Given the description of an element on the screen output the (x, y) to click on. 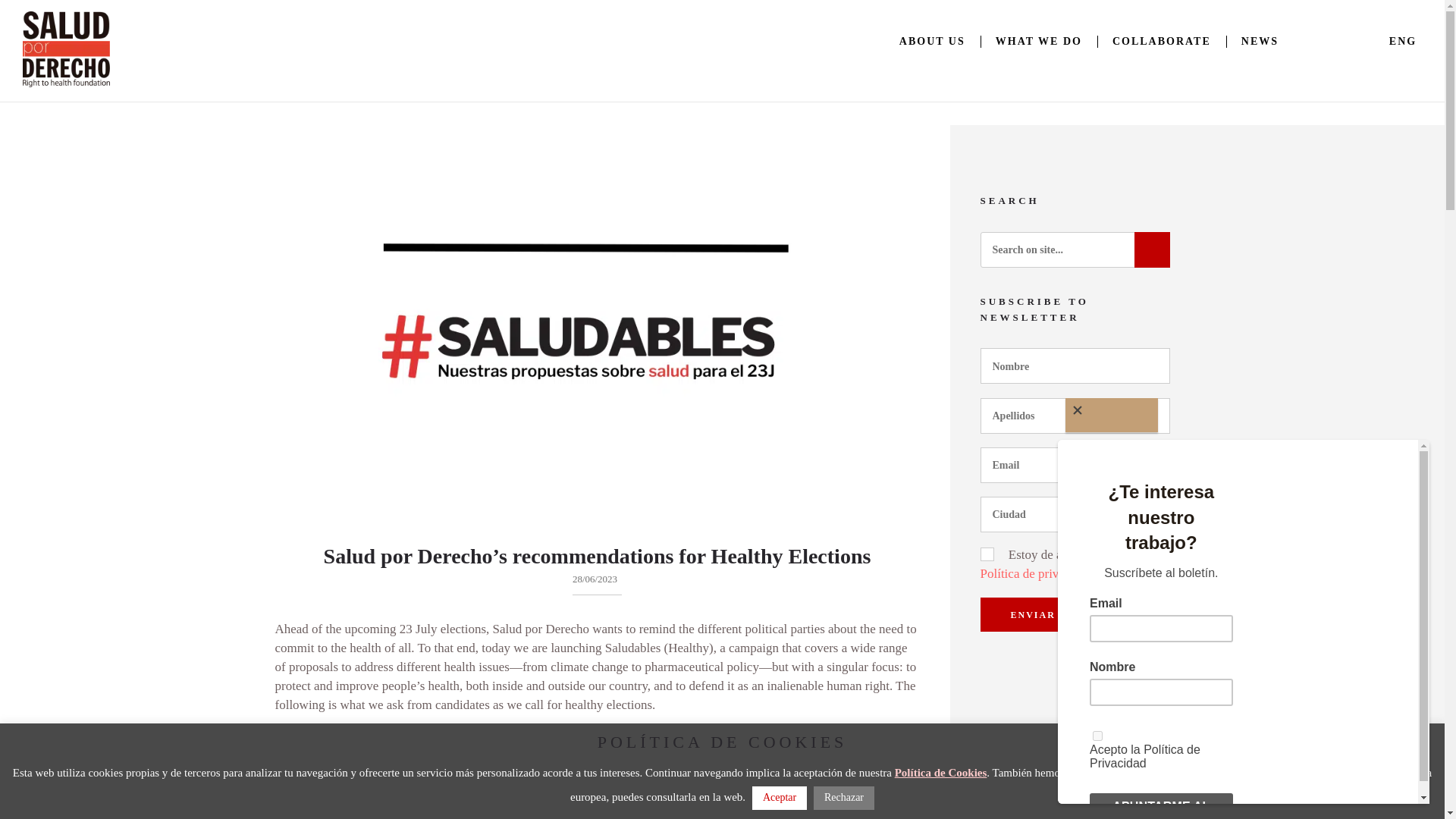
WHAT WE DO (1038, 41)
Search (1152, 249)
Search (1152, 249)
Enviar (1031, 614)
ABOUT US (931, 41)
NEWS (1259, 41)
Enviar (1031, 614)
COLLABORATE (1161, 41)
1 (984, 553)
